Given the description of an element on the screen output the (x, y) to click on. 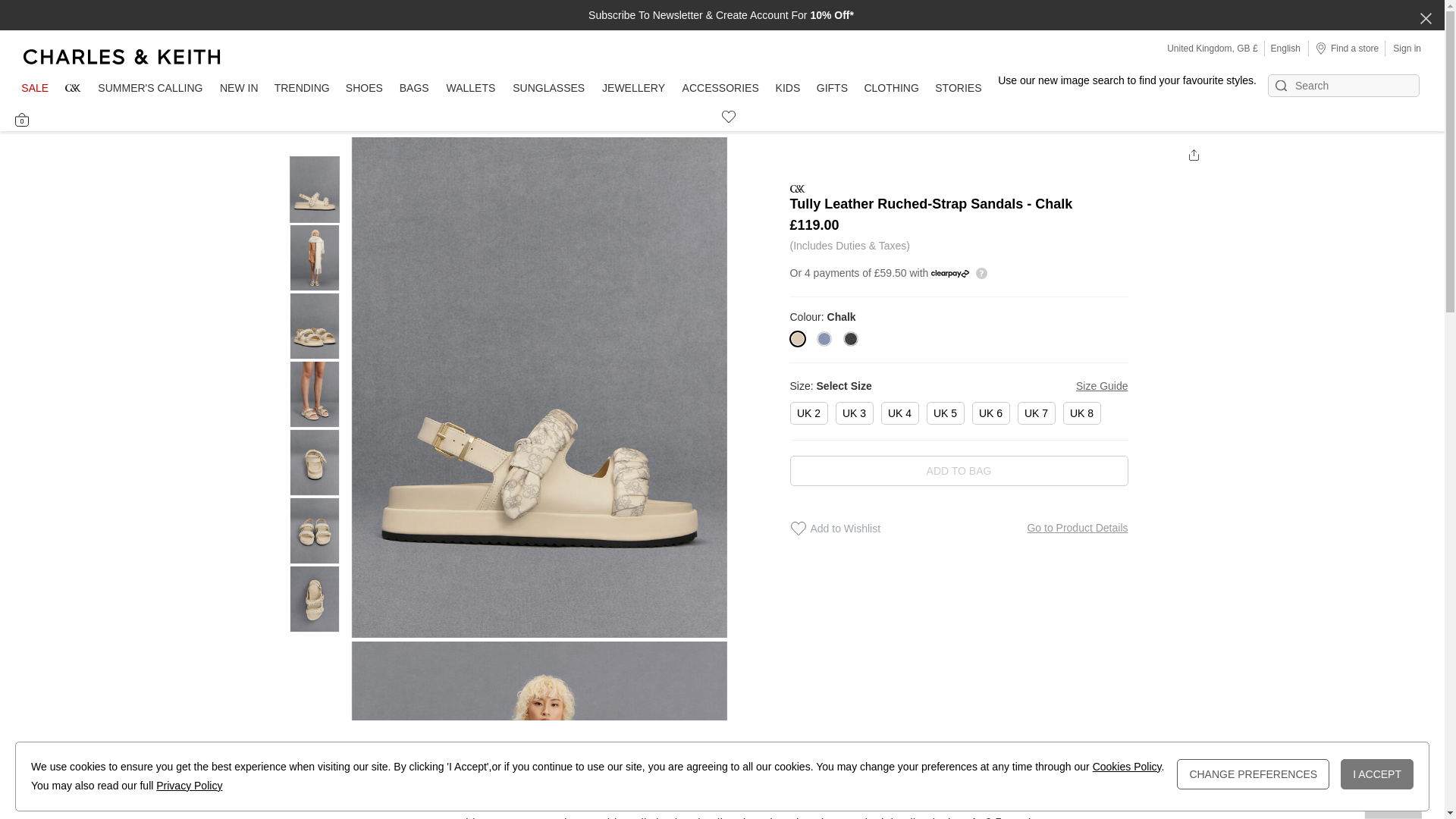
BAGS (414, 88)
WALLETS (470, 88)
SUNGLASSES (548, 88)
SALE (34, 88)
TRENDING (301, 88)
SHOES (363, 88)
wishlist (722, 114)
Sign in (1407, 48)
United Kingdom, (1201, 48)
Find a store (1346, 48)
SUMMER'S CALLING (149, 88)
NEW IN (238, 88)
View Cart (21, 119)
